Given the description of an element on the screen output the (x, y) to click on. 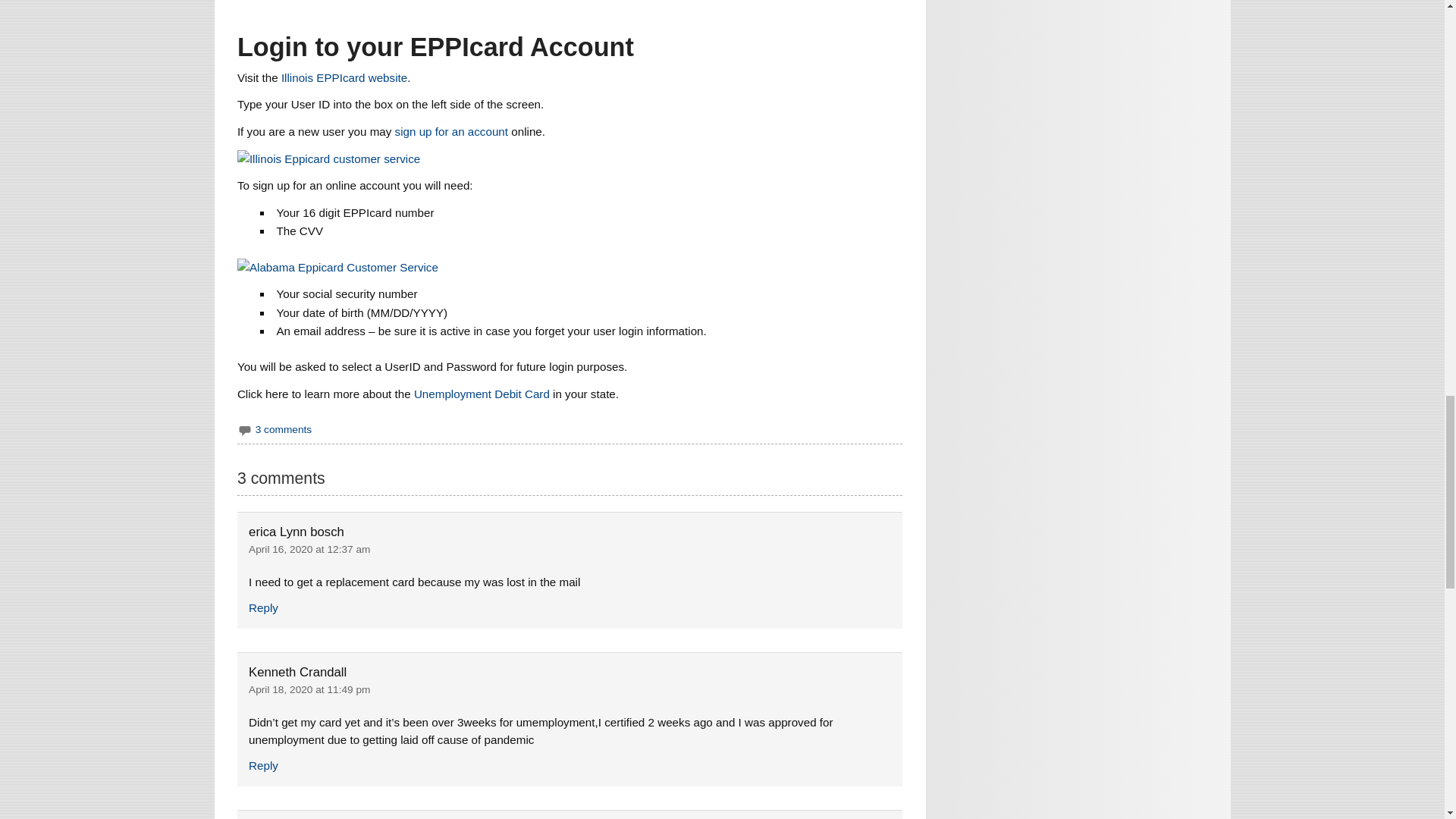
Unemployment Debit Card (481, 393)
Illinois EPPIcard website (344, 77)
sign up for an account (451, 131)
3 comments (283, 429)
Reply (263, 607)
April 16, 2020 at 12:37 am (308, 549)
April 18, 2020 at 11:49 pm (308, 689)
Reply (263, 765)
